Given the description of an element on the screen output the (x, y) to click on. 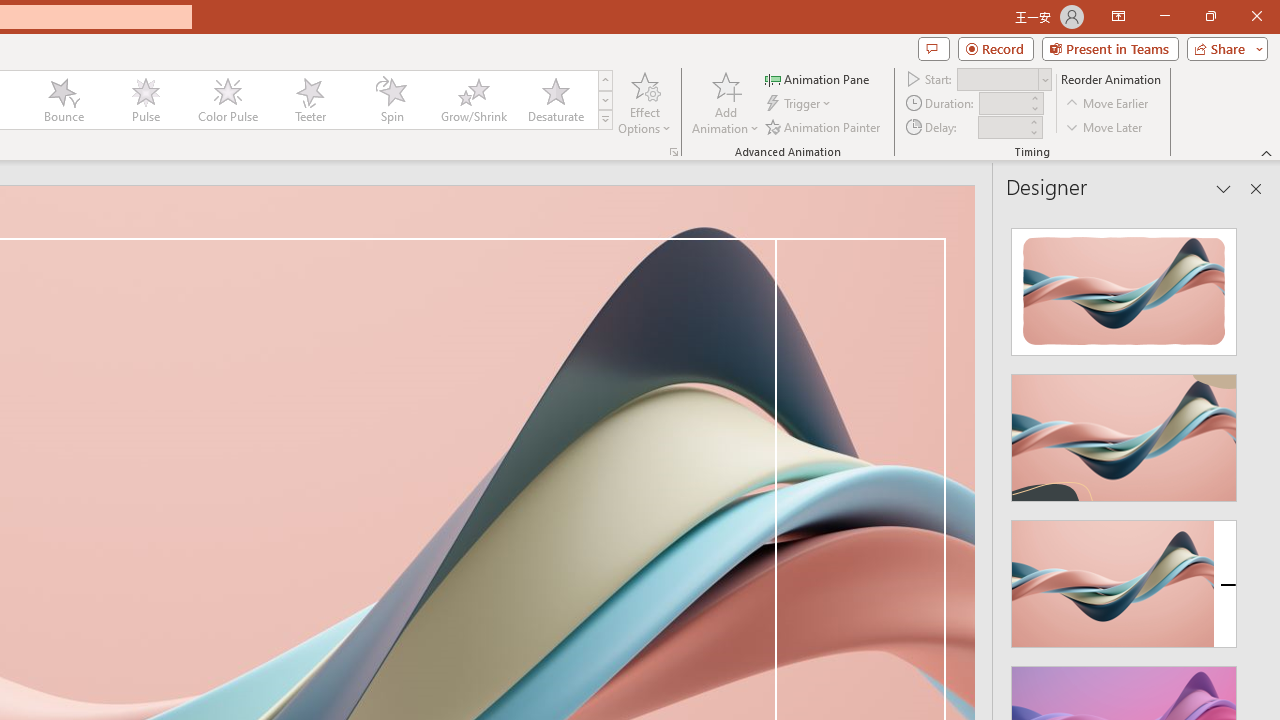
Teeter (309, 100)
Move Earlier (1107, 103)
Bounce (63, 100)
Move Later (1105, 126)
Animation Styles (605, 120)
Animation Painter (824, 126)
